Given the description of an element on the screen output the (x, y) to click on. 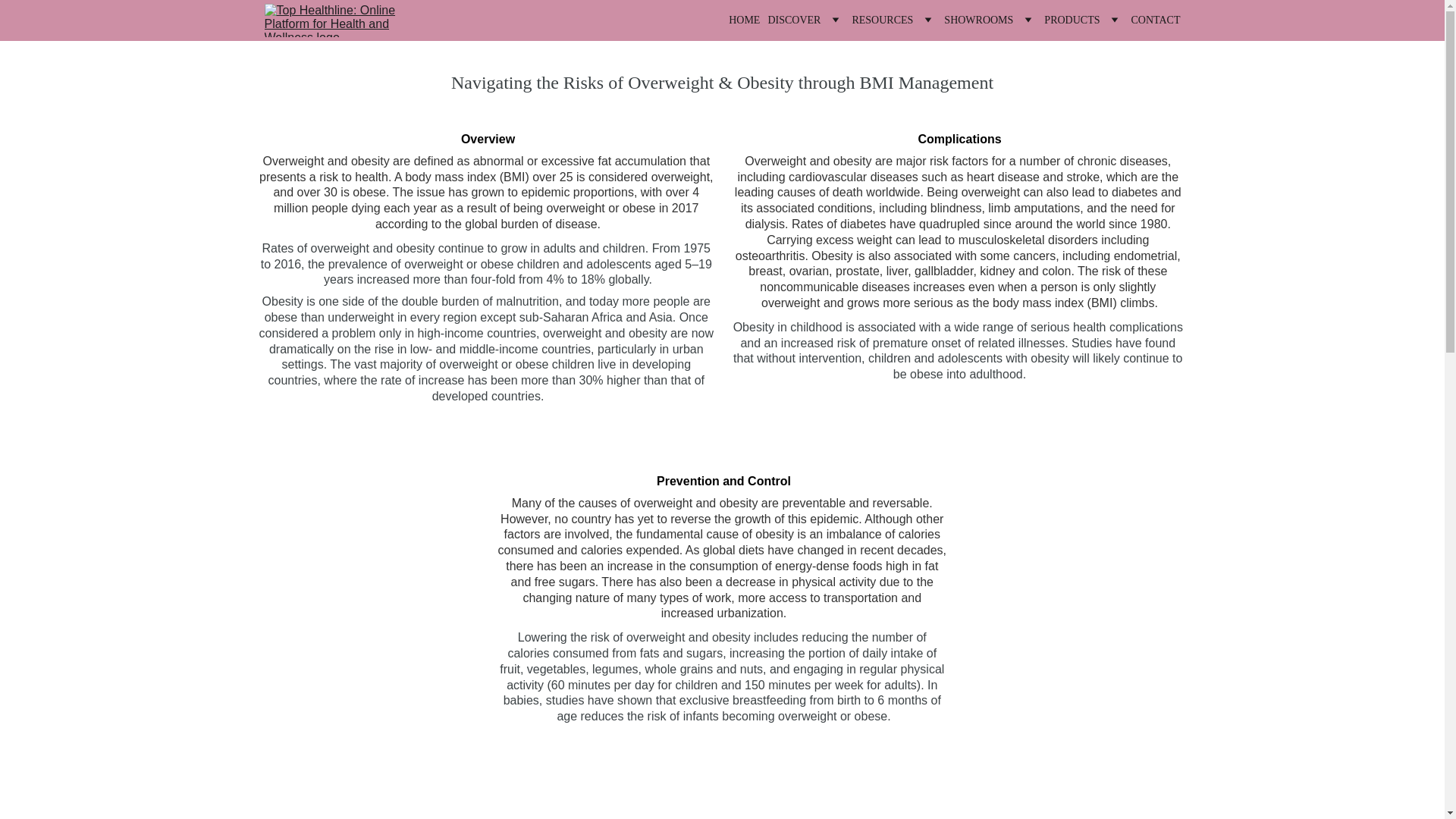
RESOURCES (881, 19)
SHOWROOMS (978, 19)
HOME (744, 19)
CONTACT (1155, 19)
DISCOVER (794, 19)
PRODUCTS (1071, 19)
